Given the description of an element on the screen output the (x, y) to click on. 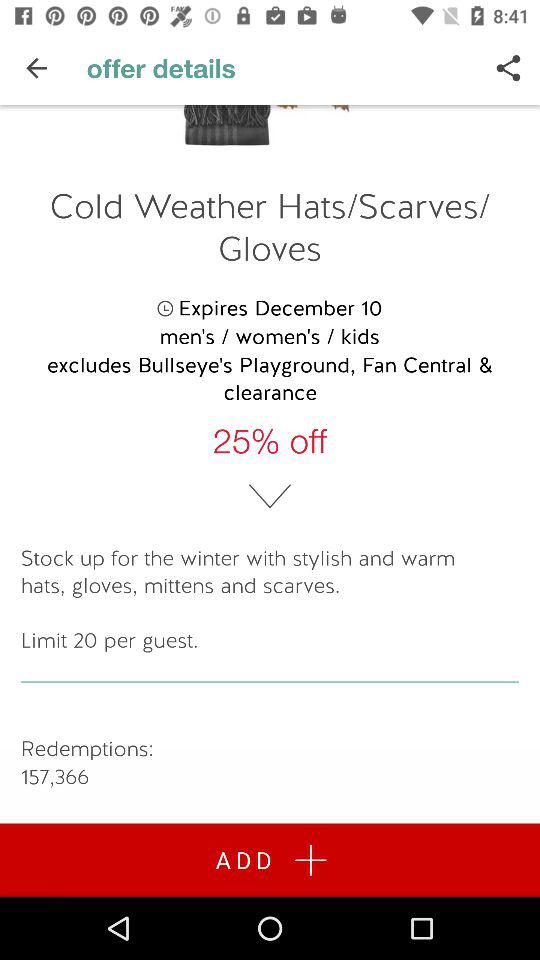
open icon above the cold weather hats (508, 67)
